Given the description of an element on the screen output the (x, y) to click on. 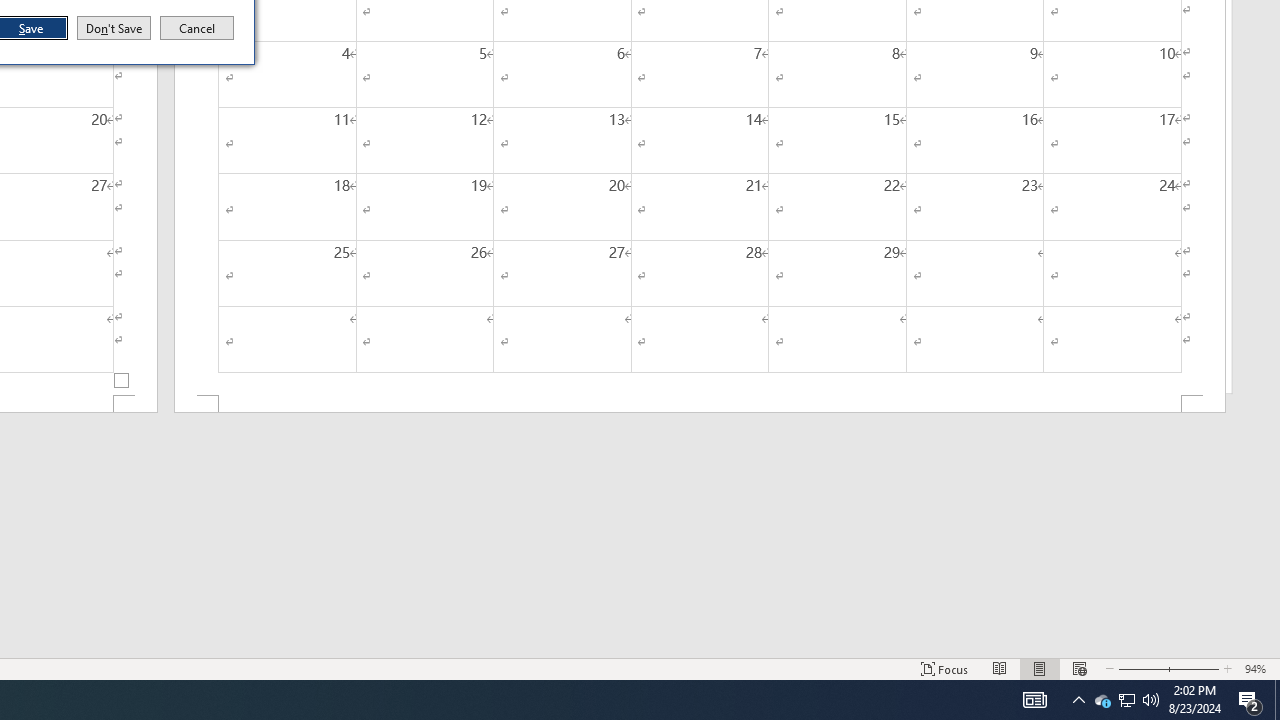
Footer -Section 2- (700, 404)
